Given the description of an element on the screen output the (x, y) to click on. 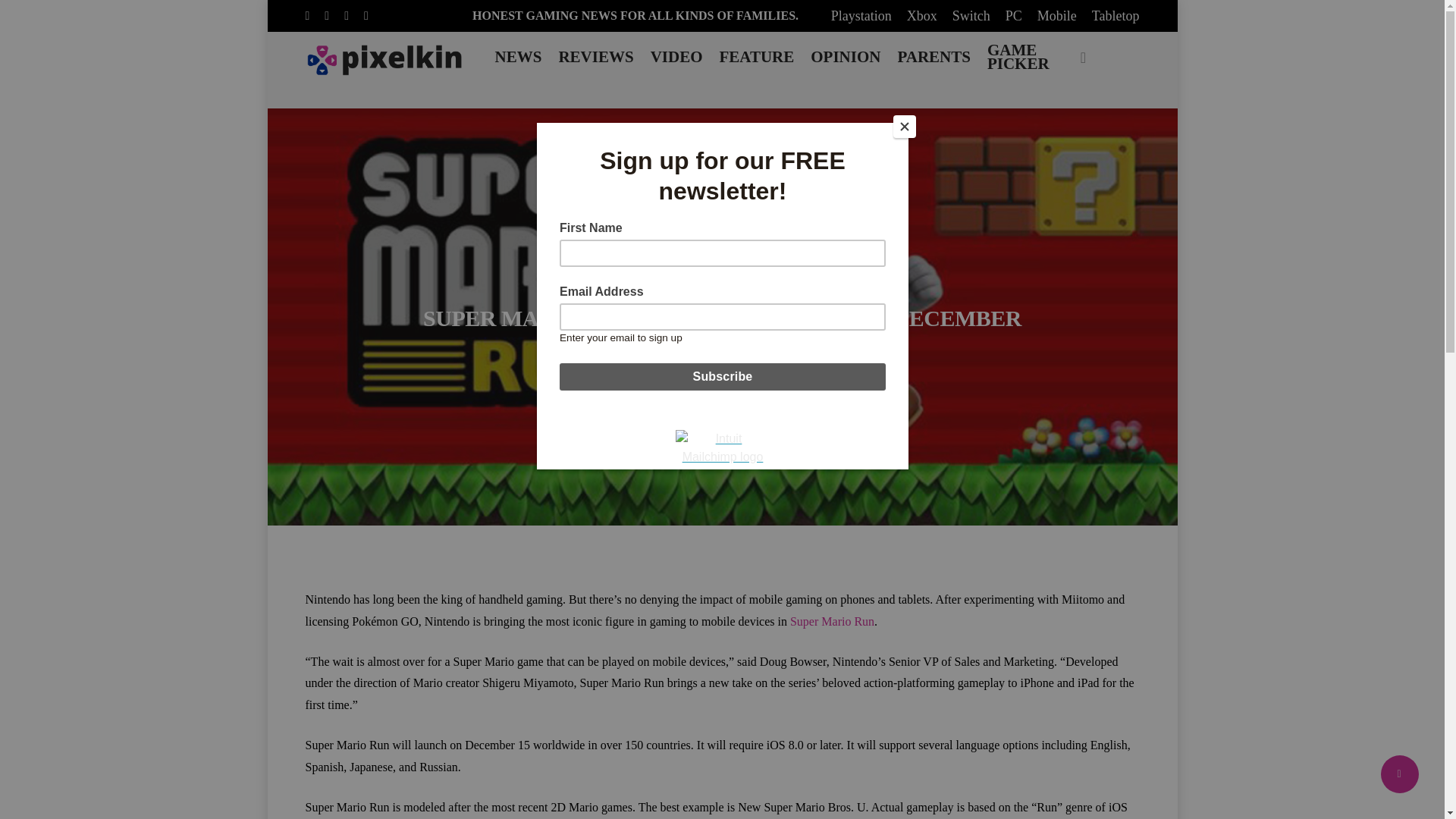
Playstation (861, 15)
Super Mario Run (832, 621)
Xbox (922, 15)
News (751, 281)
Mobile (696, 281)
No Comments (786, 355)
FEATURE (755, 56)
NEWS (519, 56)
Switch (971, 15)
PARENTS (933, 56)
